Given the description of an element on the screen output the (x, y) to click on. 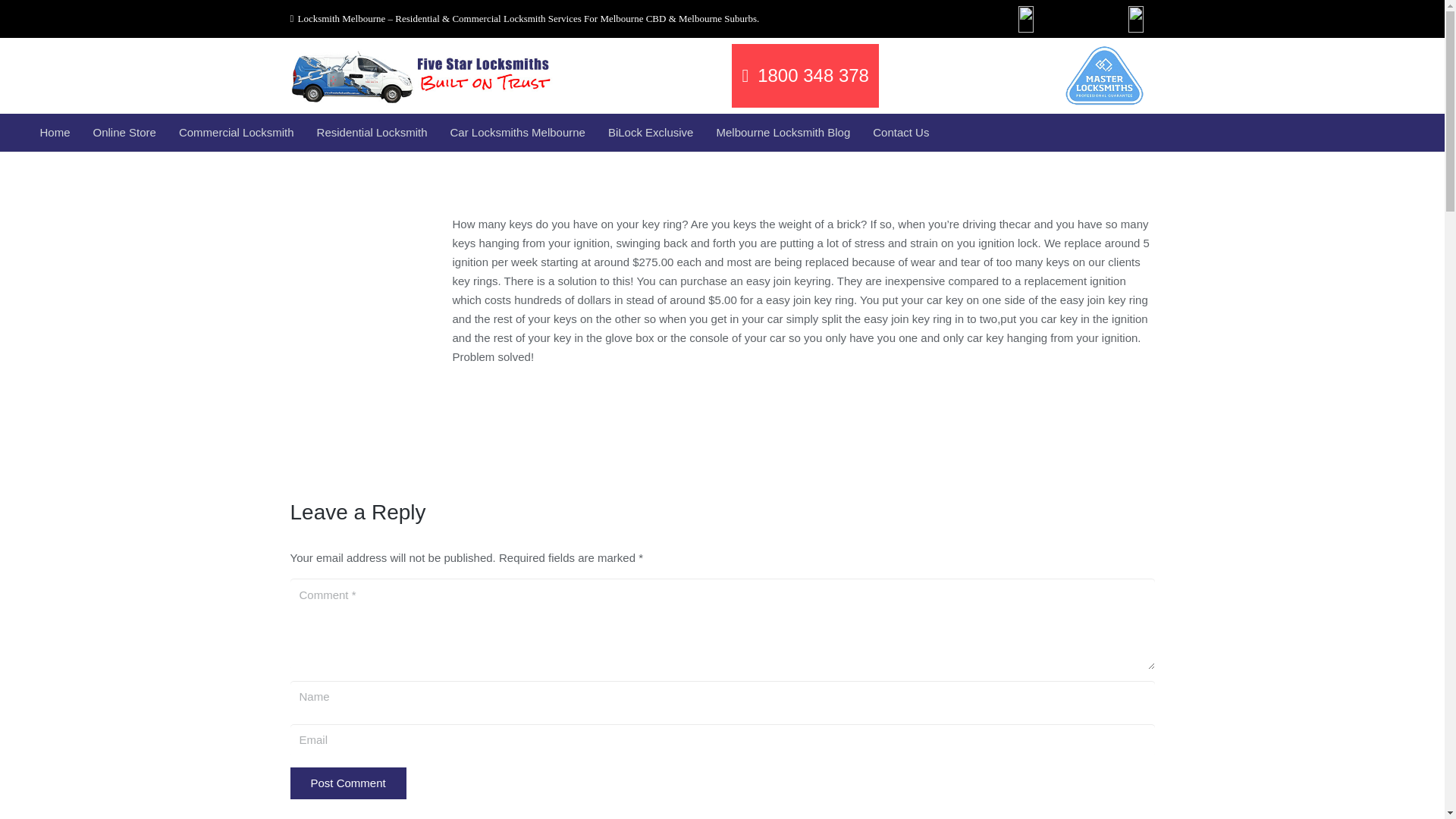
Share on Facebook (298, 392)
Melbourne Locksmith Blog (782, 132)
1800 348 378 (805, 75)
Commercial Locksmith (236, 132)
Post Comment (347, 783)
Residential Locksmith (372, 132)
Online Store (124, 132)
Contact Us (900, 132)
Car Locksmiths Melbourne (517, 132)
Home (55, 132)
BiLock Exclusive (650, 132)
